Given the description of an element on the screen output the (x, y) to click on. 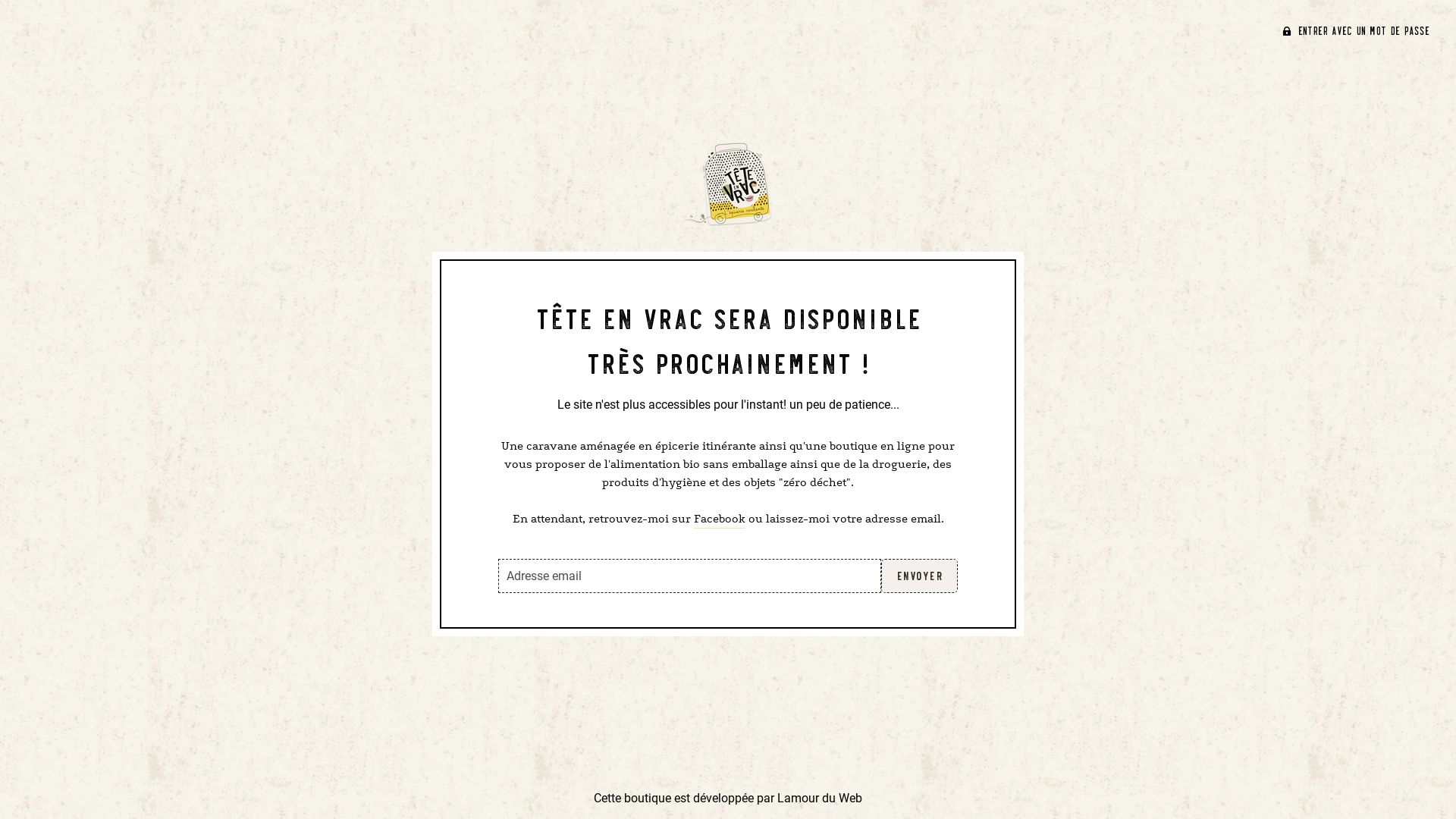
Entrer avec un mot de passe Element type: text (1355, 29)
Facebook Element type: text (718, 518)
ENVOYER Element type: text (919, 575)
